Given the description of an element on the screen output the (x, y) to click on. 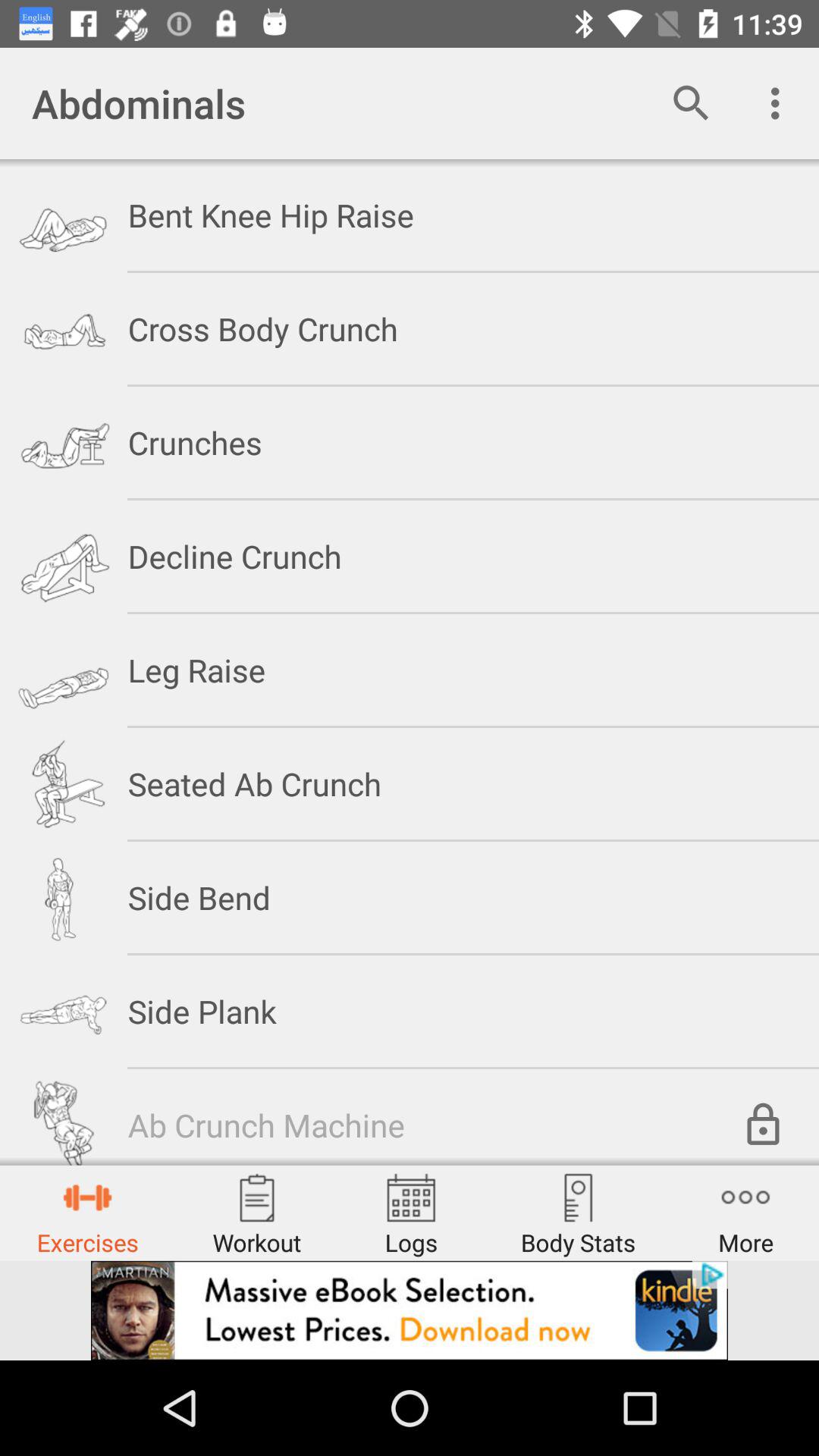
for add (409, 1310)
